Given the description of an element on the screen output the (x, y) to click on. 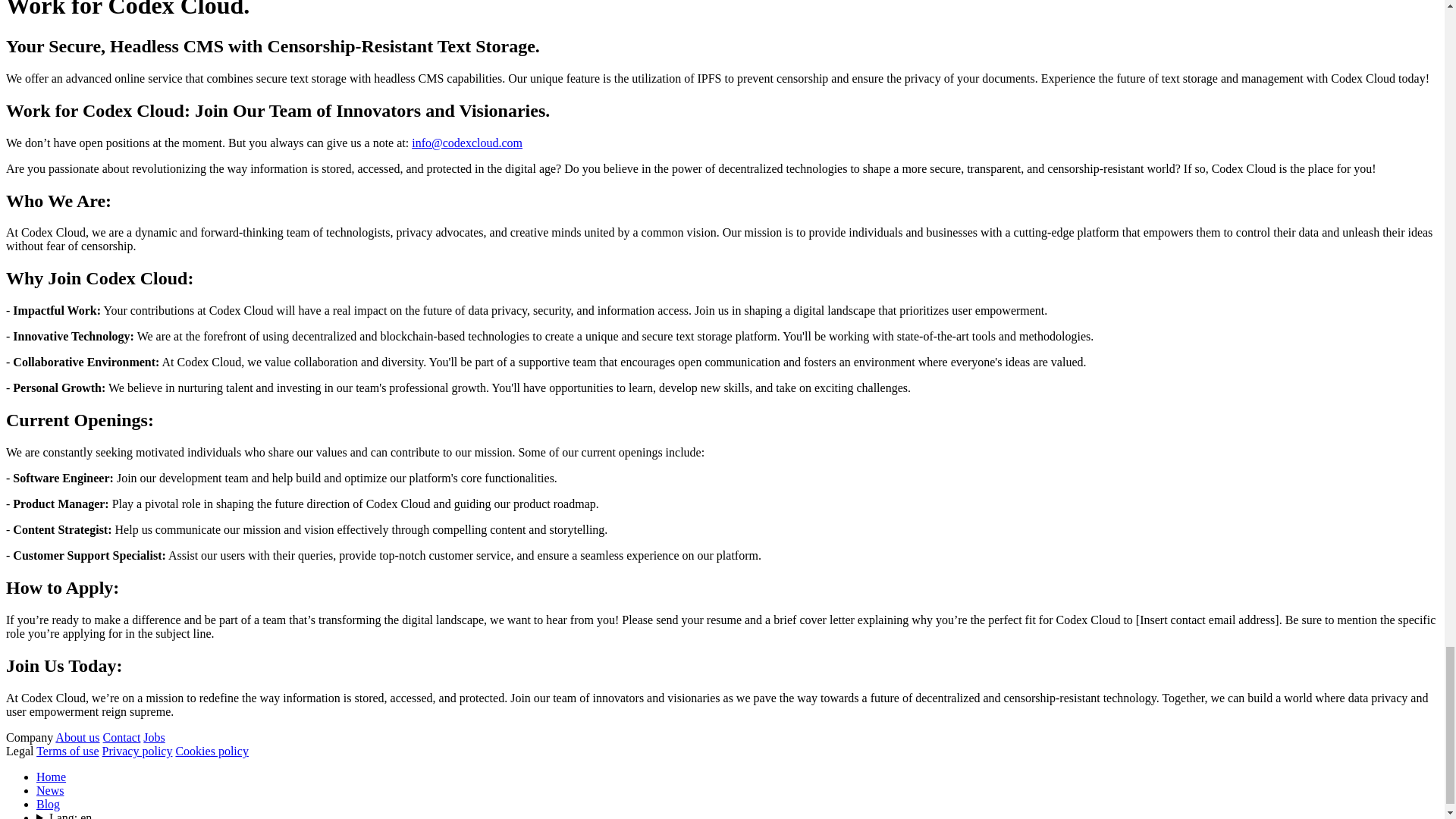
Privacy policy (137, 750)
Contact (122, 737)
Blog (47, 803)
Cookies policy (210, 750)
News (50, 789)
Home (50, 776)
Terms of use (67, 750)
About us (77, 737)
Jobs (153, 737)
